Given the description of an element on the screen output the (x, y) to click on. 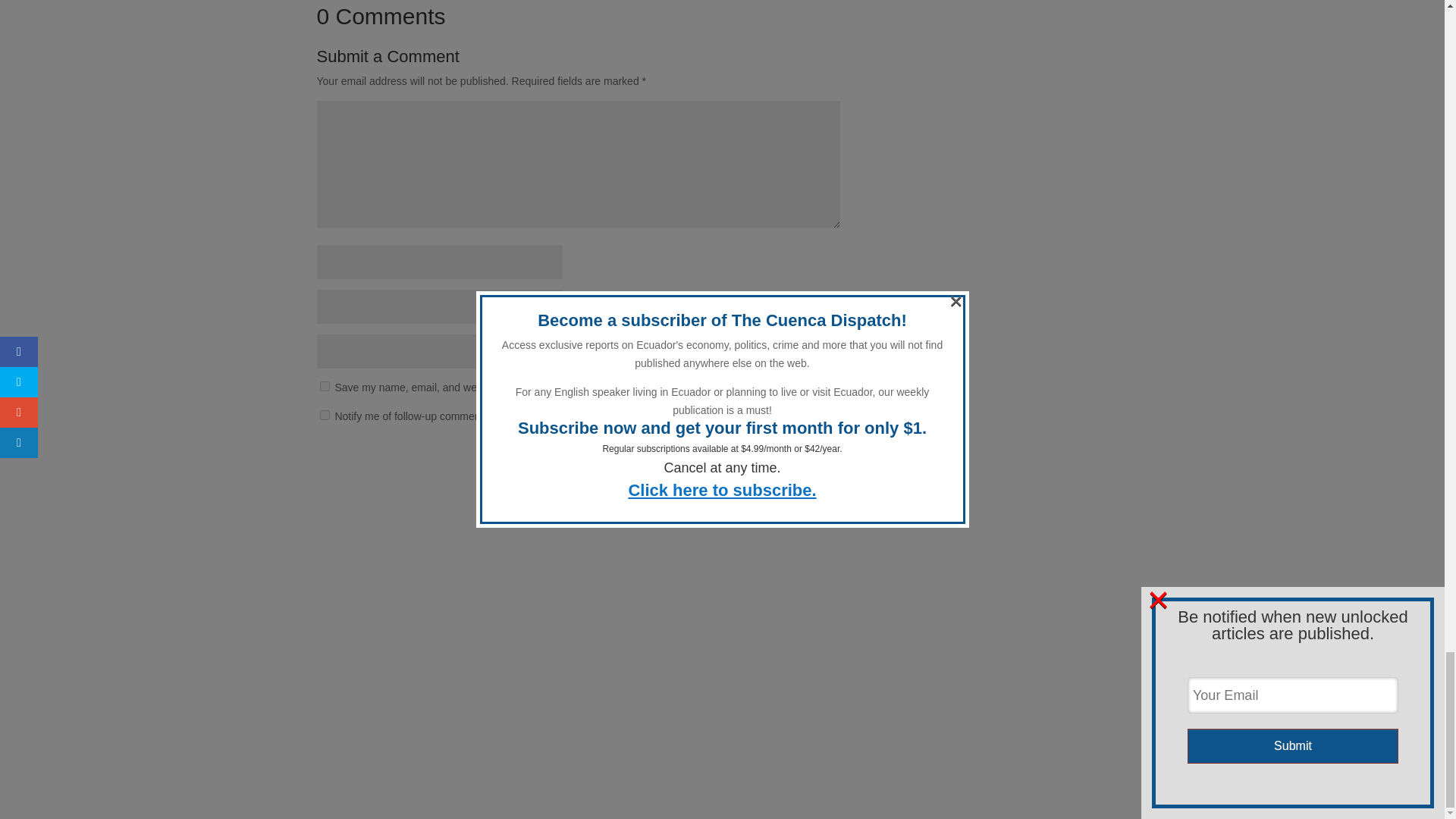
yes (325, 386)
subscribe (325, 415)
